Given the description of an element on the screen output the (x, y) to click on. 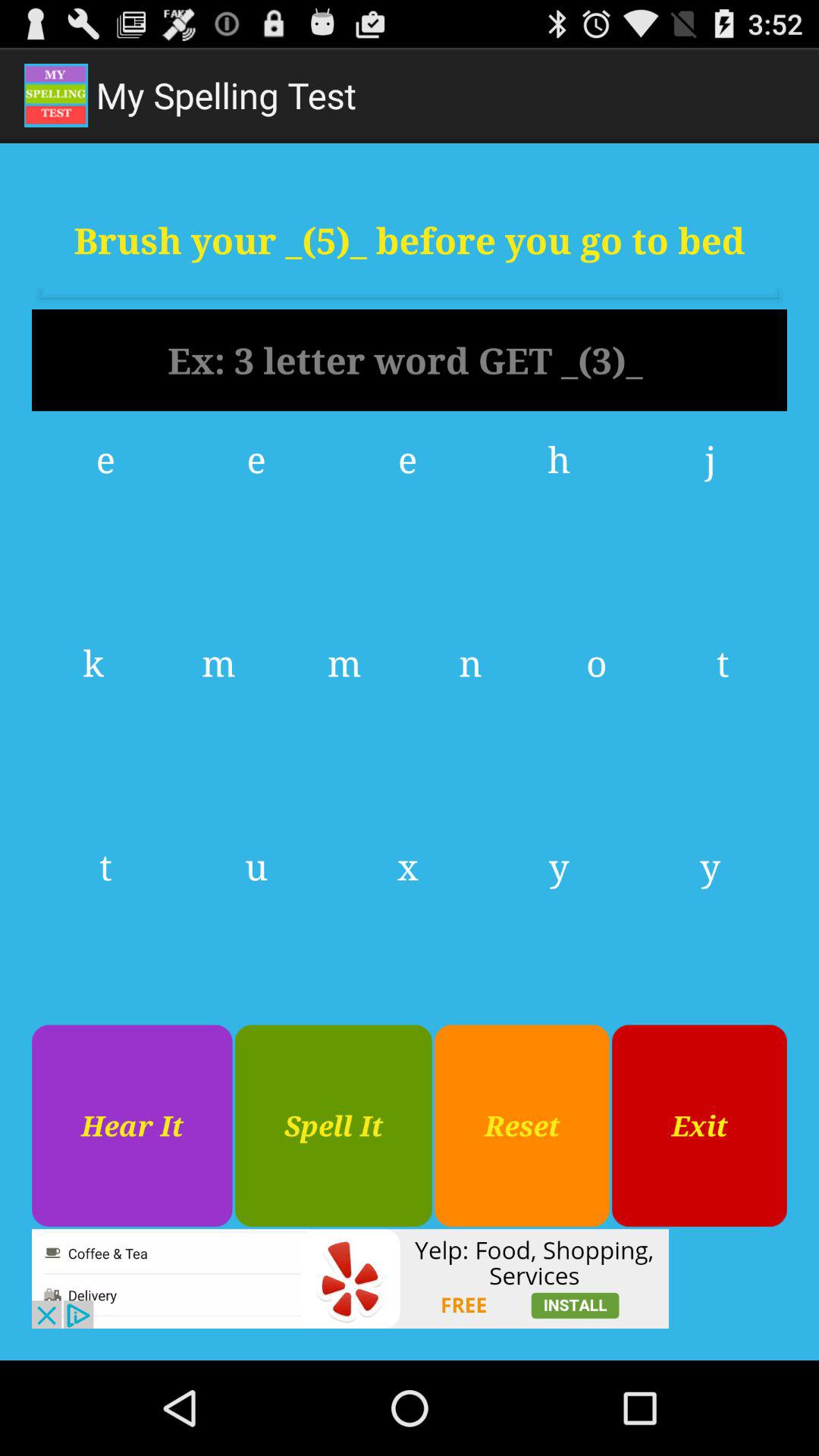
enter data (409, 360)
